Given the description of an element on the screen output the (x, y) to click on. 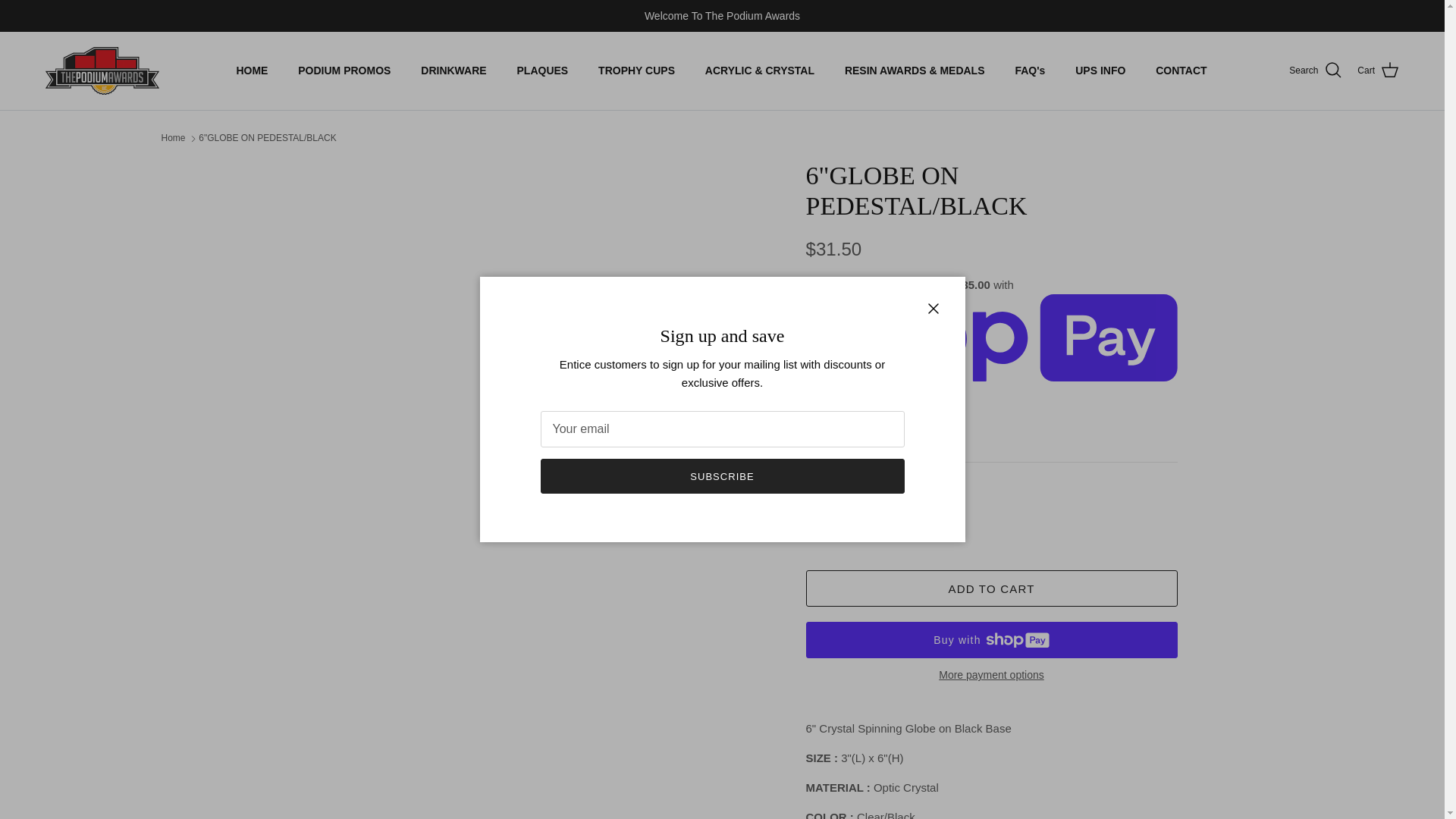
TROPHY CUPS (636, 70)
CONTACT (1180, 70)
DRINKWARE (453, 70)
HOME (251, 70)
Cart (1377, 70)
FAQ's (1029, 70)
Search (1315, 70)
UPS INFO (1099, 70)
1 (866, 521)
PLAQUES (542, 70)
PODIUM PROMOS (343, 70)
